Given the description of an element on the screen output the (x, y) to click on. 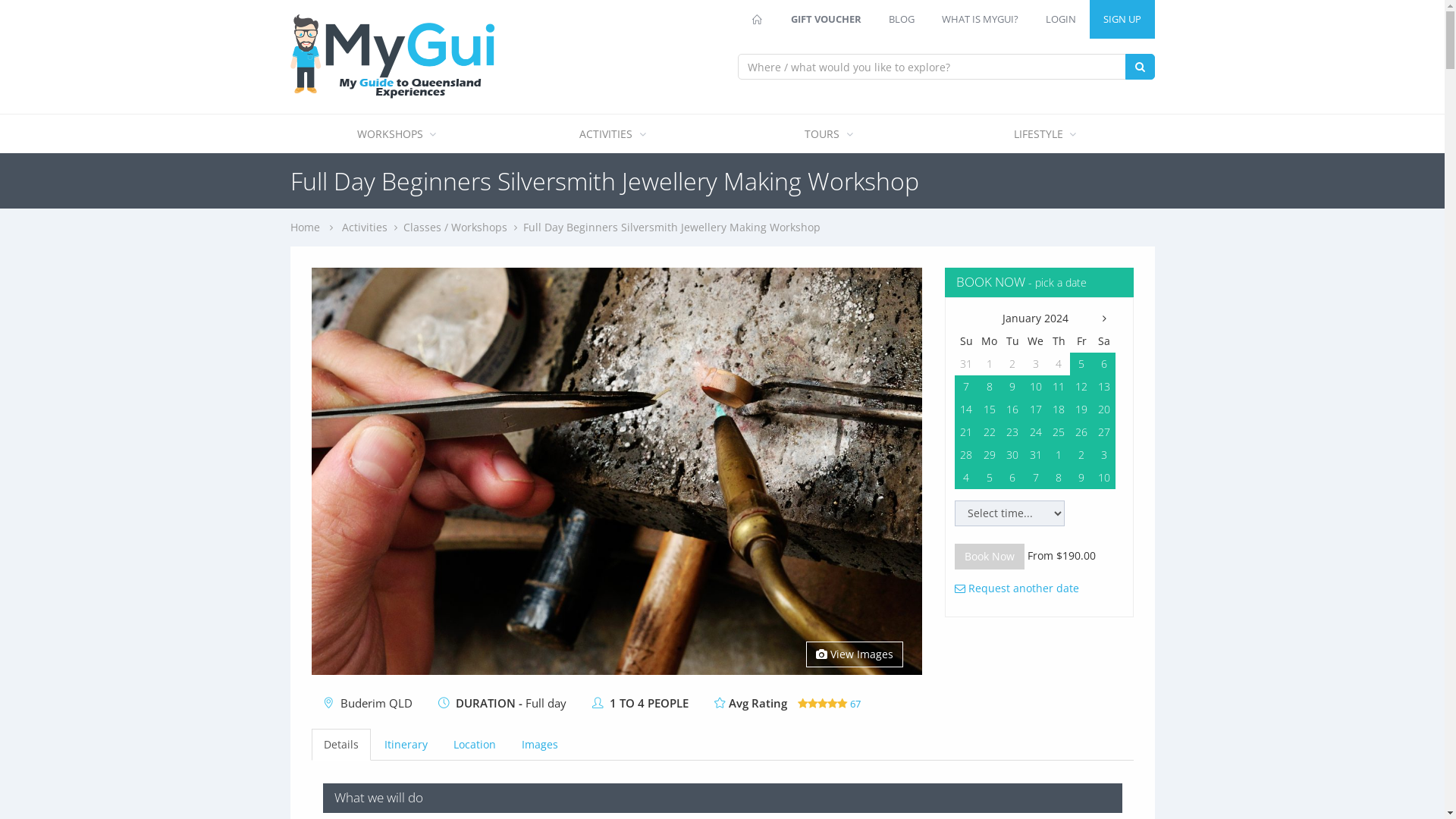
Activities Element type: text (363, 226)
WORKSHOPS Element type: text (397, 133)
LOGIN Element type: text (1059, 19)
LIFESTYLE Element type: text (1046, 133)
ACTIVITIES Element type: text (614, 133)
WHAT IS MYGUI? Element type: text (980, 19)
Images Element type: text (539, 744)
Itinerary Element type: text (405, 744)
GIFT VOUCHER Element type: text (825, 19)
Request another date Element type: text (1016, 587)
View Images Element type: text (854, 654)
Classes / Workshops Element type: text (455, 226)
Home Element type: text (304, 226)
SIGN UP Element type: text (1121, 19)
Book Now Element type: text (989, 556)
67 Element type: text (828, 703)
TOURS Element type: text (829, 133)
BLOG Element type: text (901, 19)
Location Element type: text (474, 744)
Details Element type: text (340, 744)
